Given the description of an element on the screen output the (x, y) to click on. 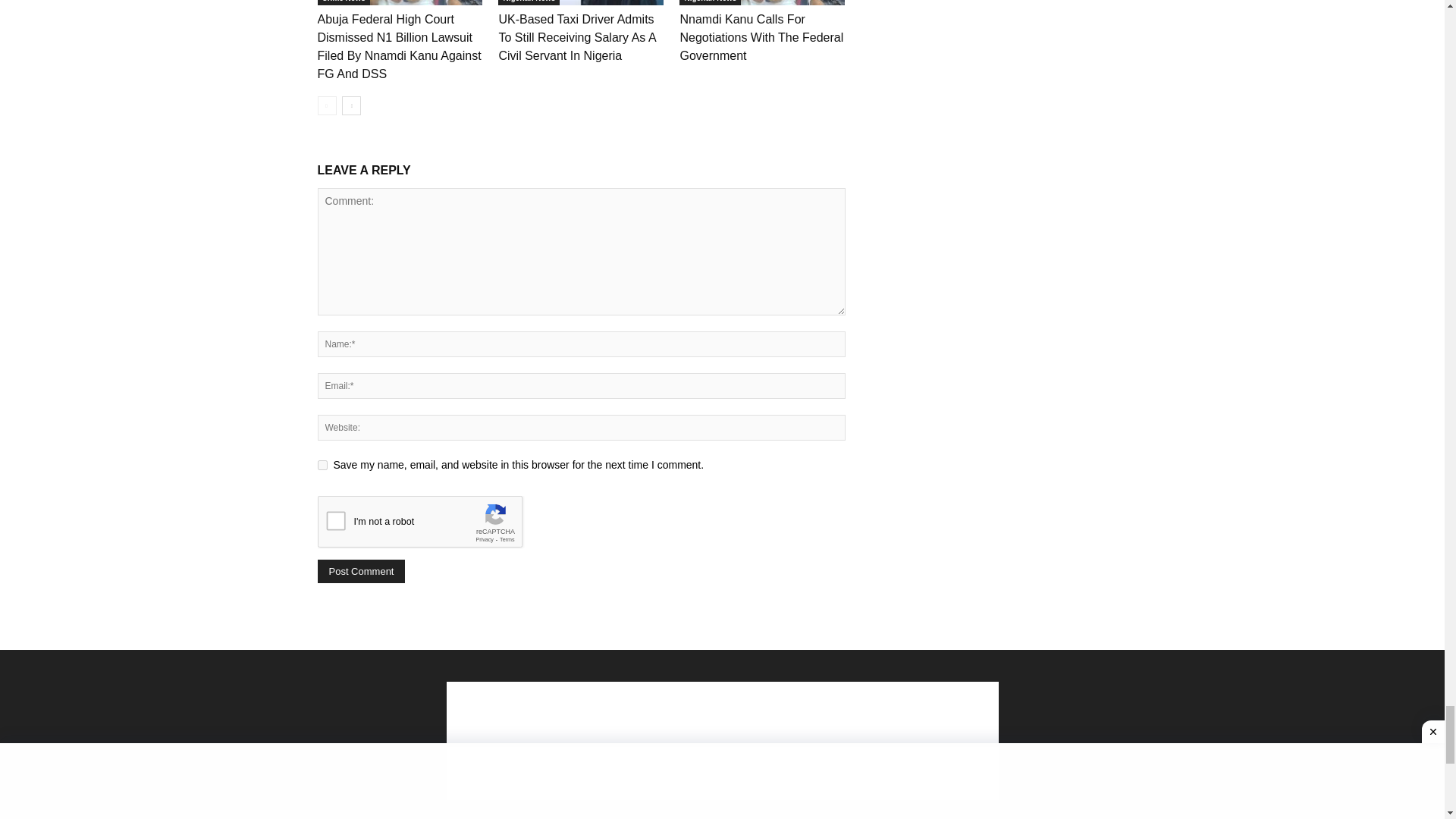
yes (321, 465)
Post Comment (360, 571)
